Given the description of an element on the screen output the (x, y) to click on. 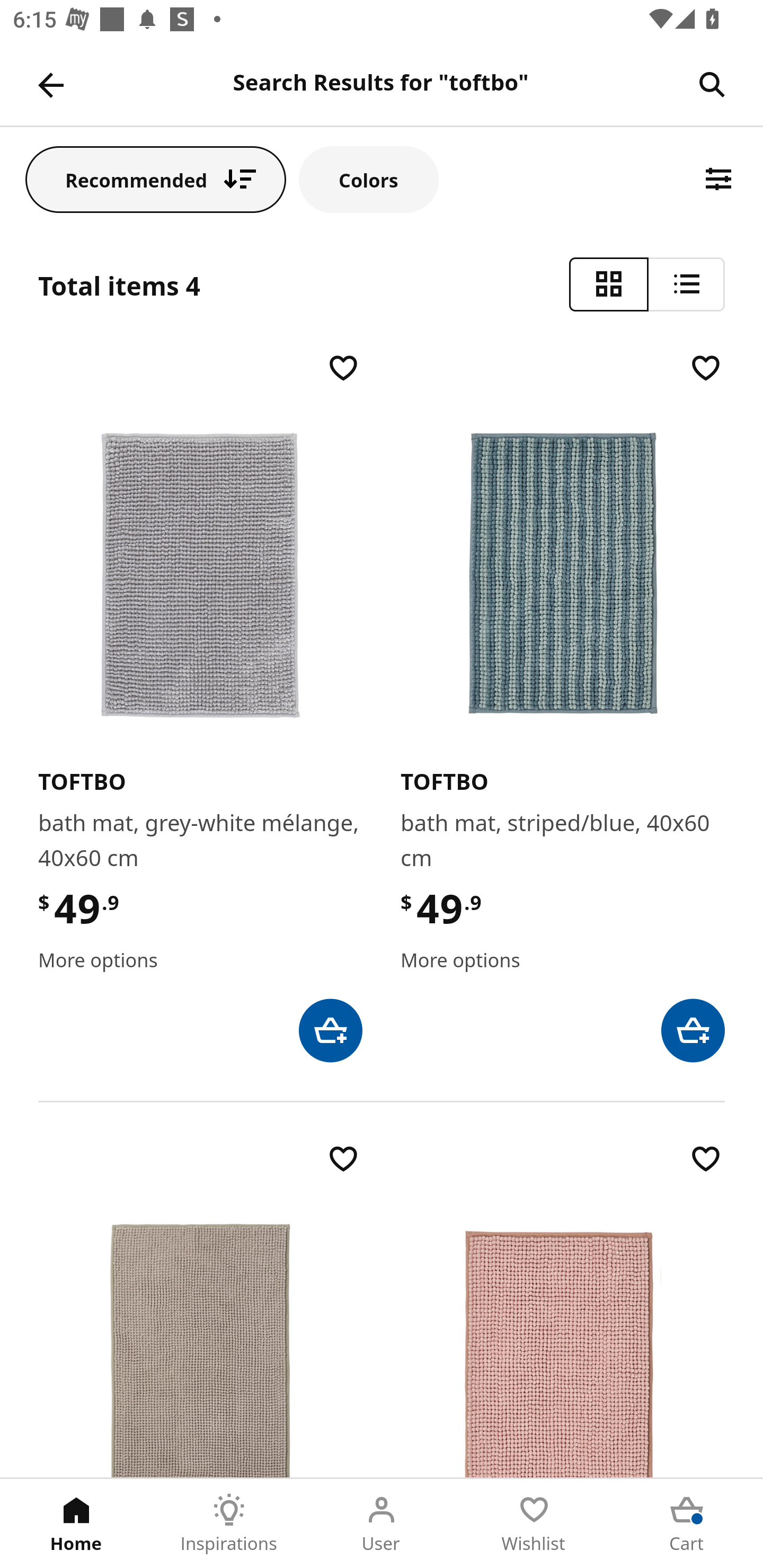
Recommended (155, 179)
Colors (368, 179)
Home
Tab 1 of 5 (76, 1522)
Inspirations
Tab 2 of 5 (228, 1522)
User
Tab 3 of 5 (381, 1522)
Wishlist
Tab 4 of 5 (533, 1522)
Cart
Tab 5 of 5 (686, 1522)
